Given the description of an element on the screen output the (x, y) to click on. 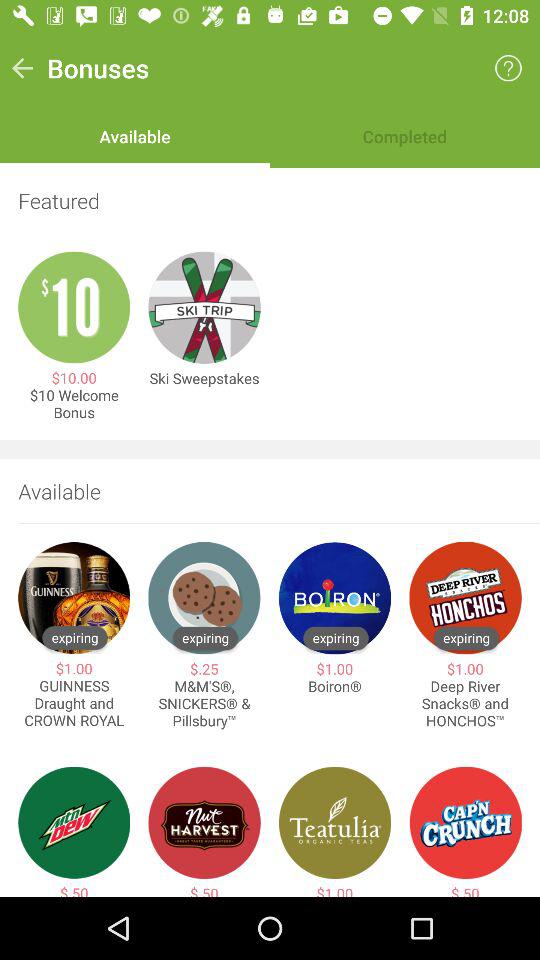
open icon below the $10.00 item (74, 404)
